Given the description of an element on the screen output the (x, y) to click on. 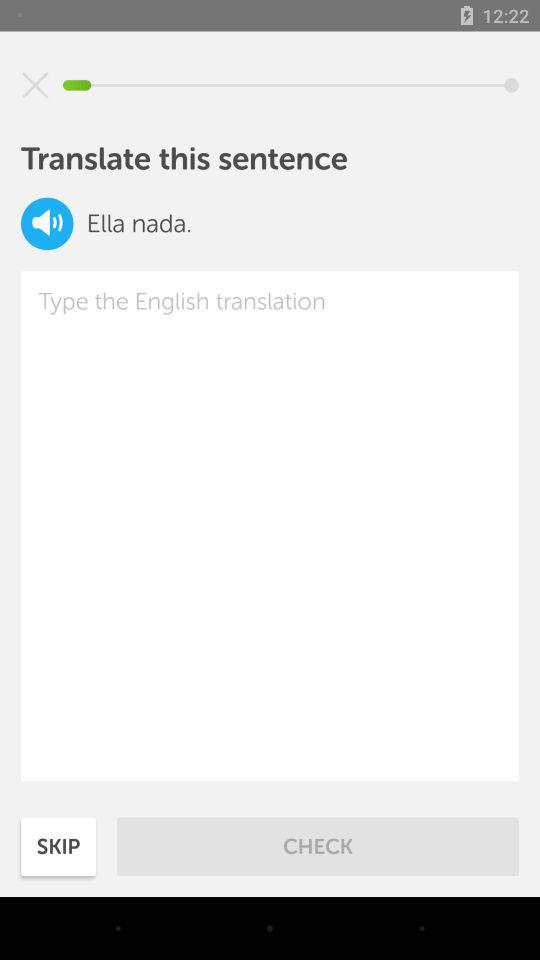
flip until check (318, 846)
